Given the description of an element on the screen output the (x, y) to click on. 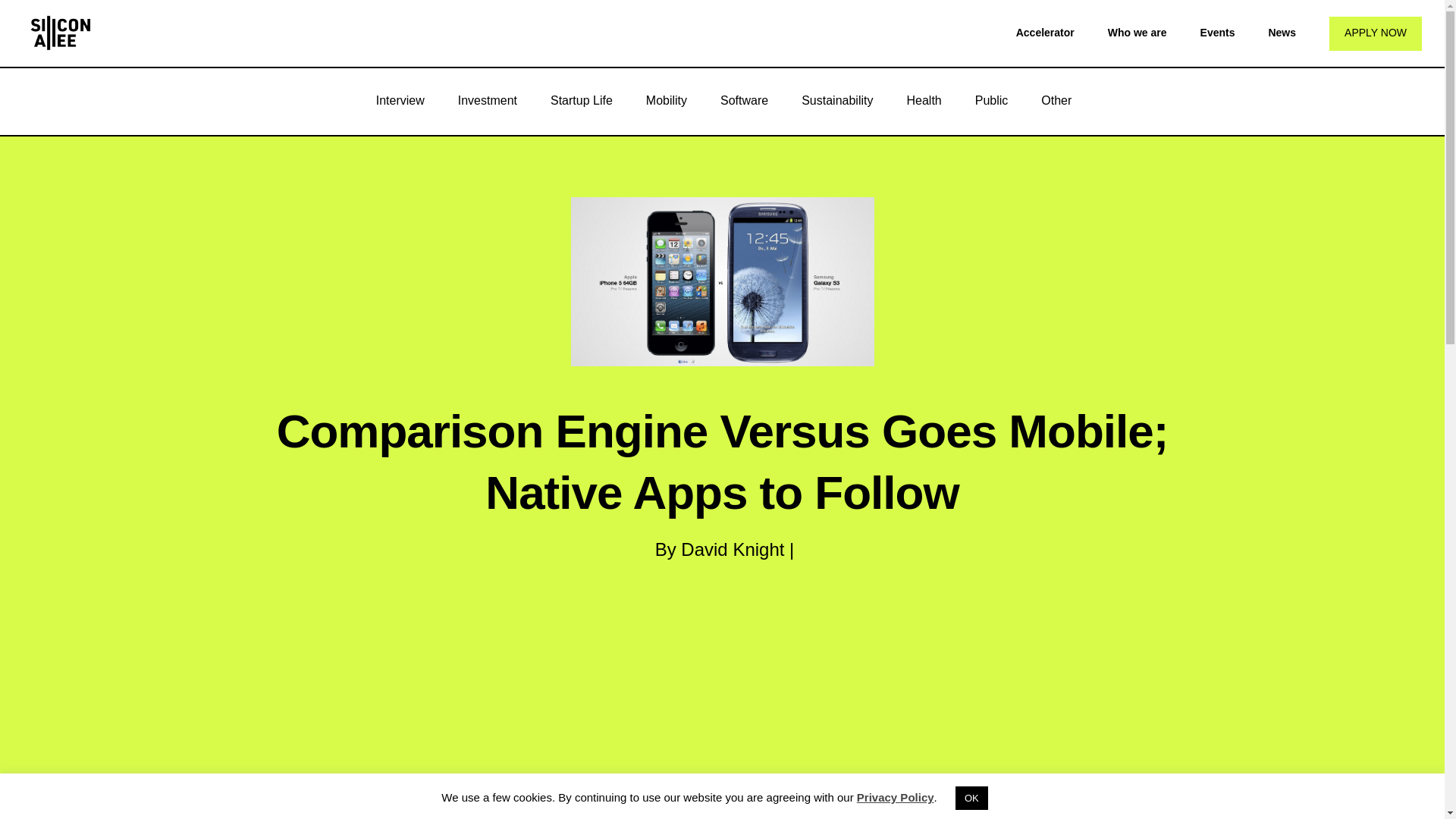
Events (1216, 31)
Mobility (665, 100)
Public (991, 100)
Who we are (1137, 31)
Health (923, 100)
Investment (487, 100)
Other (1056, 100)
Startup Life (581, 100)
News (1281, 31)
Interview (400, 100)
Software (743, 100)
Sustainability (837, 100)
Accelerator (1045, 31)
APPLY NOW (1375, 33)
